Given the description of an element on the screen output the (x, y) to click on. 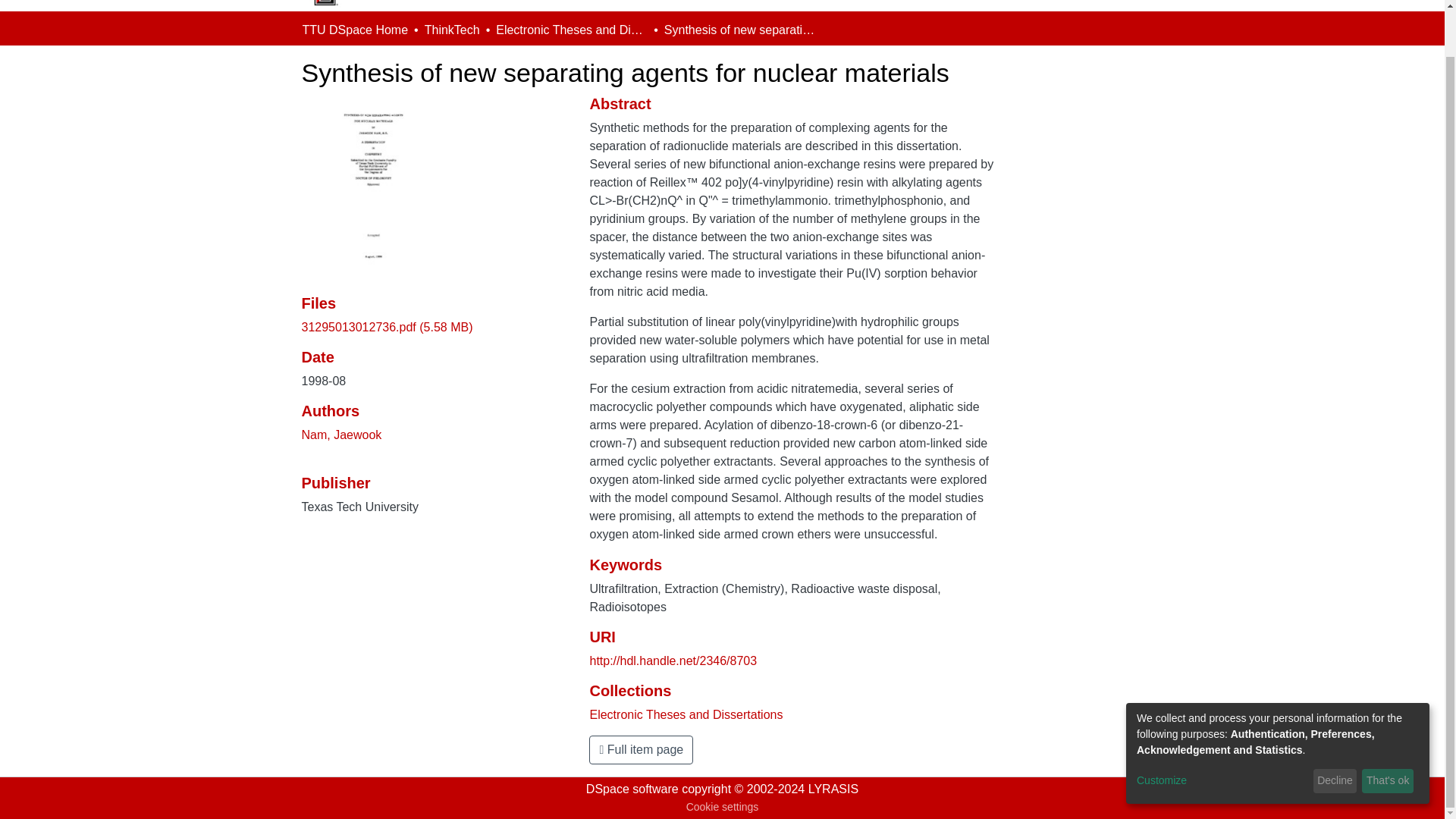
DSpace software (632, 788)
Full item page (641, 749)
Decline (1334, 731)
Nam, Jaewook (341, 434)
Electronic Theses and Dissertations (686, 714)
That's ok (1387, 731)
Electronic Theses and Dissertations (571, 30)
TTU DSpace Home (354, 30)
Cookie settings (722, 806)
Customize (1222, 731)
